Given the description of an element on the screen output the (x, y) to click on. 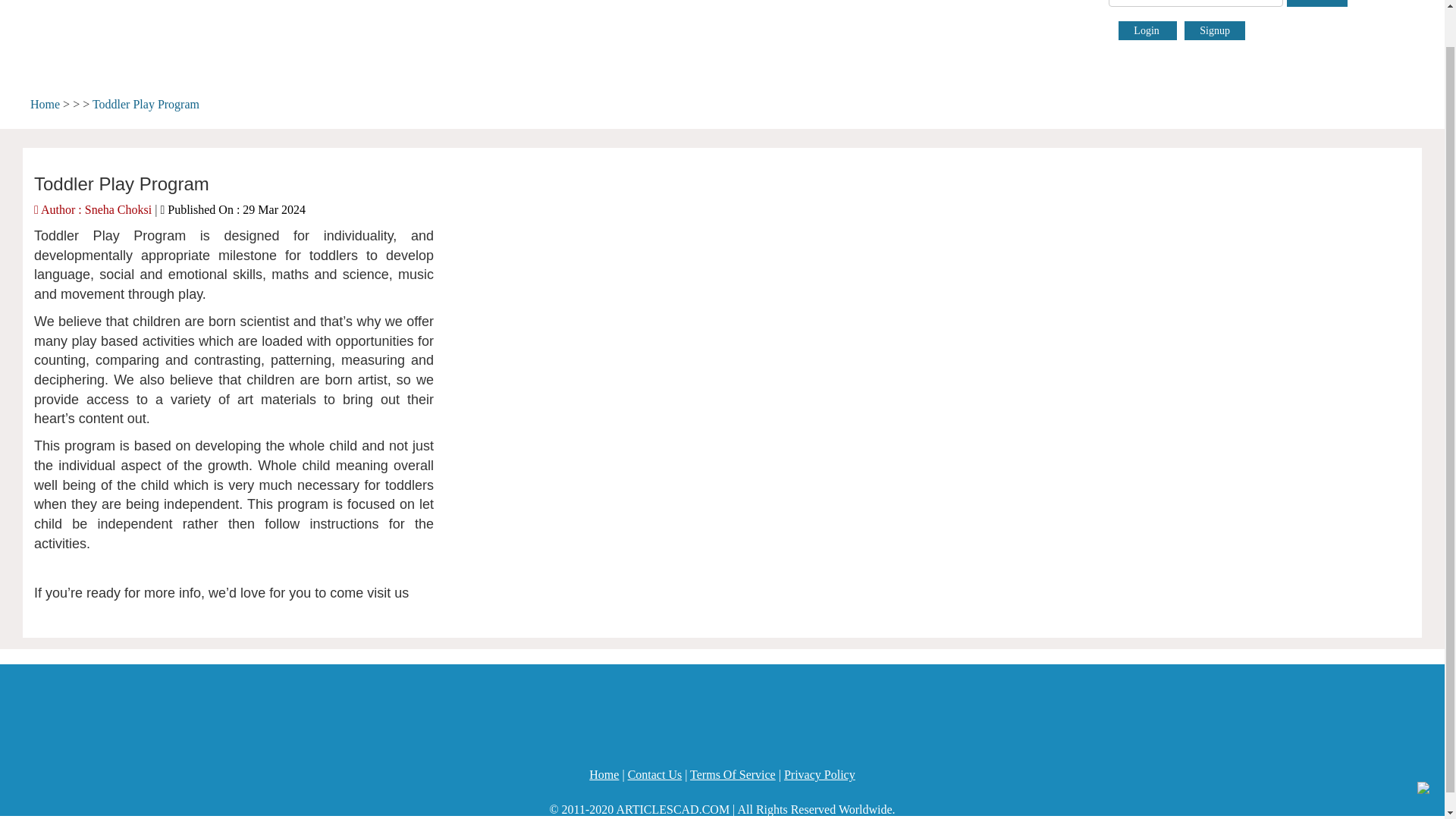
Contact Us (654, 774)
Search (1317, 3)
Terms Of Service (733, 774)
Home (44, 103)
Privacy Policy (820, 774)
Home (603, 774)
Signup (1214, 30)
Toddler Play Program (146, 103)
Login (1147, 30)
Search (1317, 3)
